Given the description of an element on the screen output the (x, y) to click on. 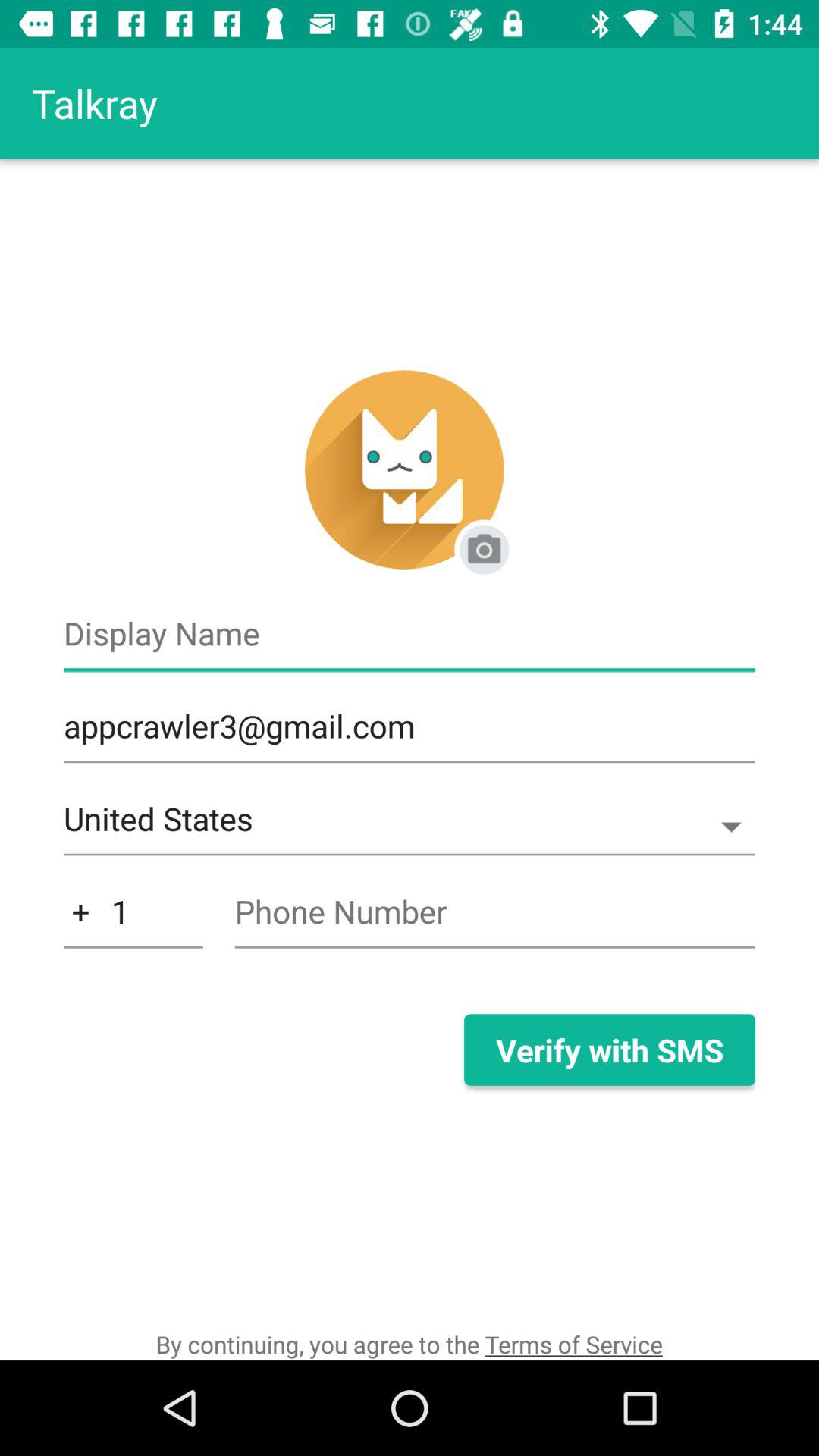
swipe until united states icon (409, 826)
